Given the description of an element on the screen output the (x, y) to click on. 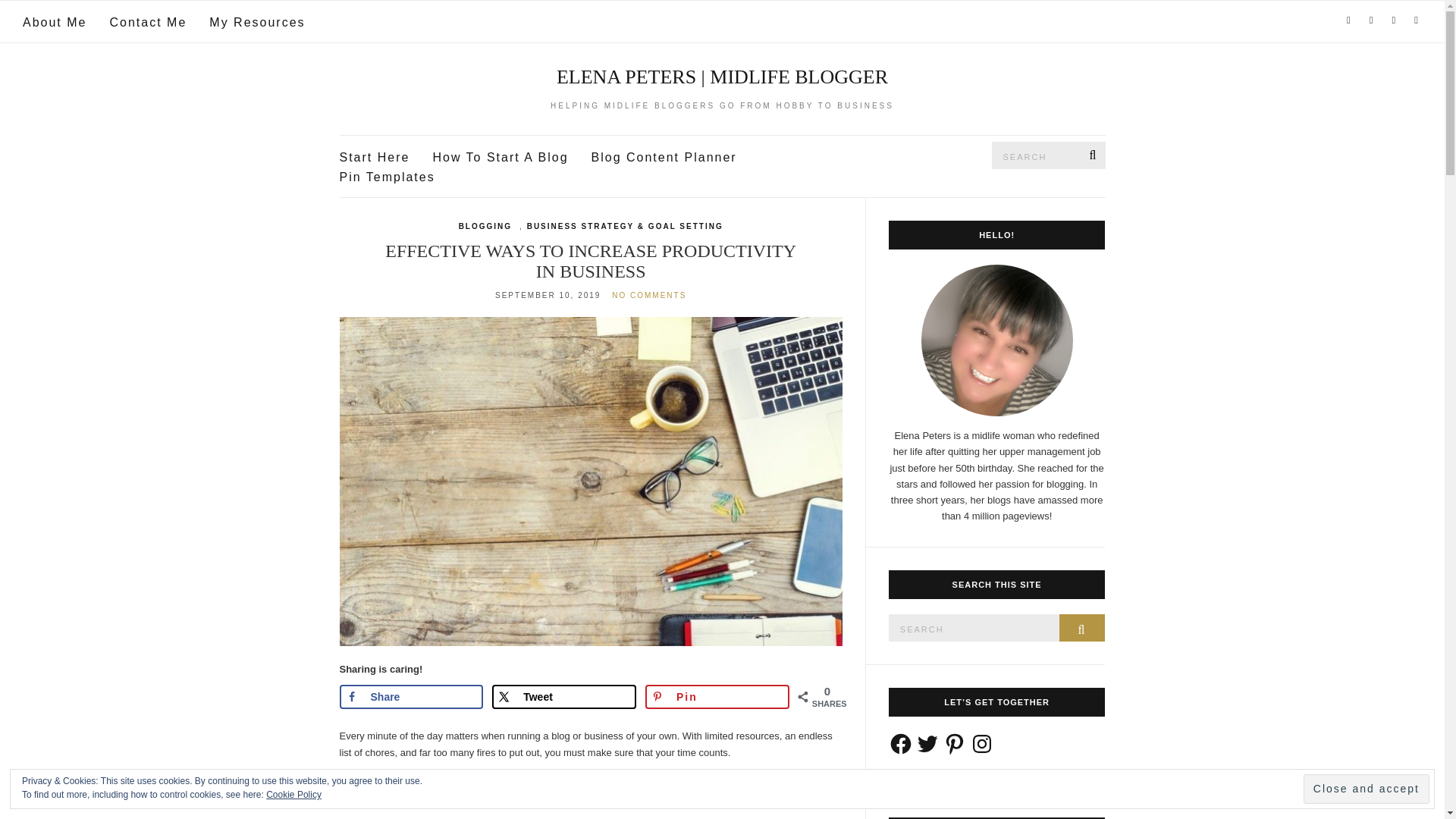
NO COMMENTS (648, 295)
Close and accept (1366, 788)
Tweet (564, 696)
Share on X (564, 696)
Pin (717, 696)
Share (411, 696)
Start Here (374, 157)
How To Start A Blog (499, 157)
BLOGGING (485, 226)
Blog Content Planner (663, 157)
Share on Facebook (411, 696)
Save to Pinterest (717, 696)
My Resources (256, 22)
Contact Me (147, 22)
About Me (54, 22)
